Given the description of an element on the screen output the (x, y) to click on. 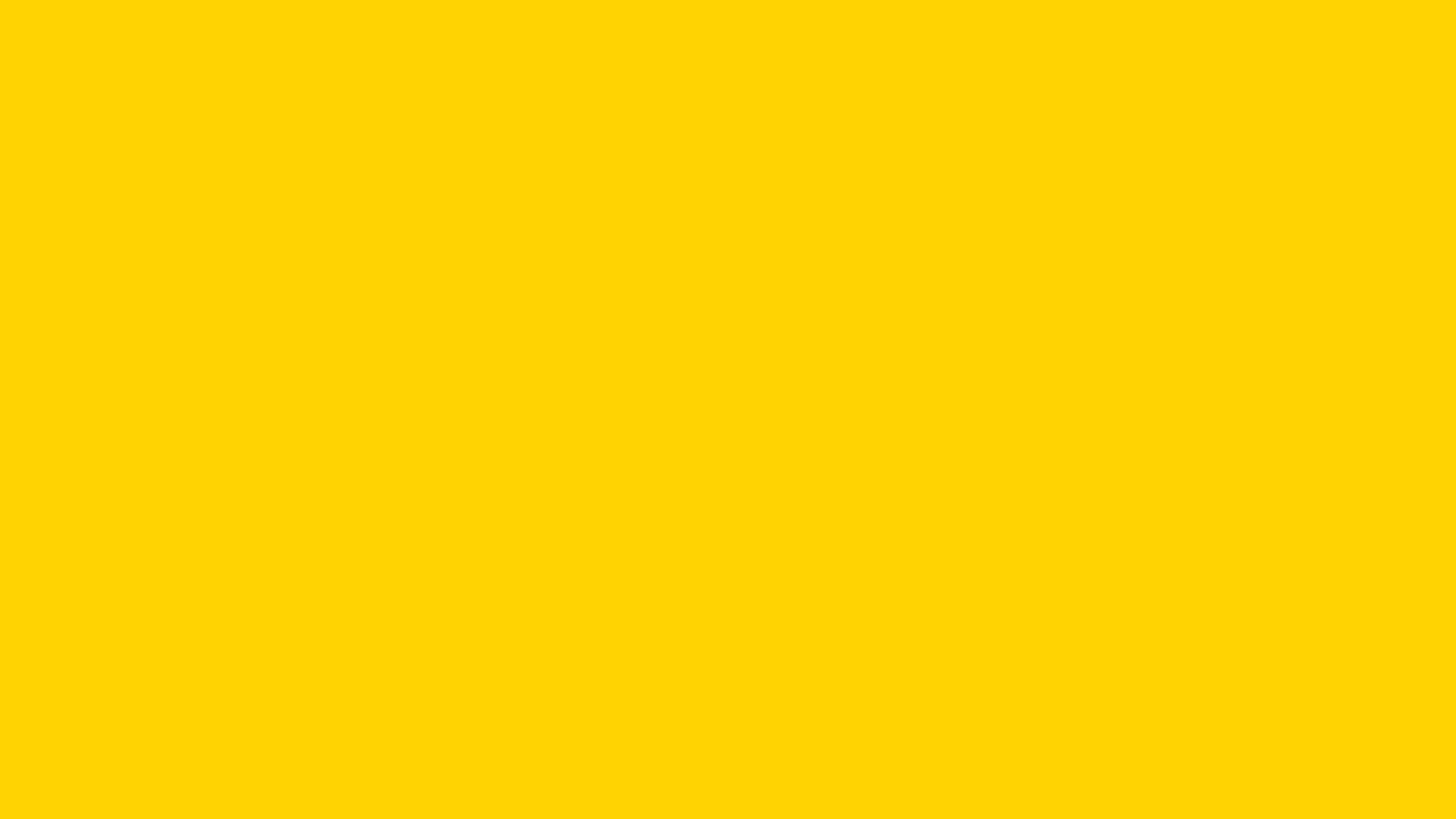
GO HOME Element type: text (322, 332)
